Given the description of an element on the screen output the (x, y) to click on. 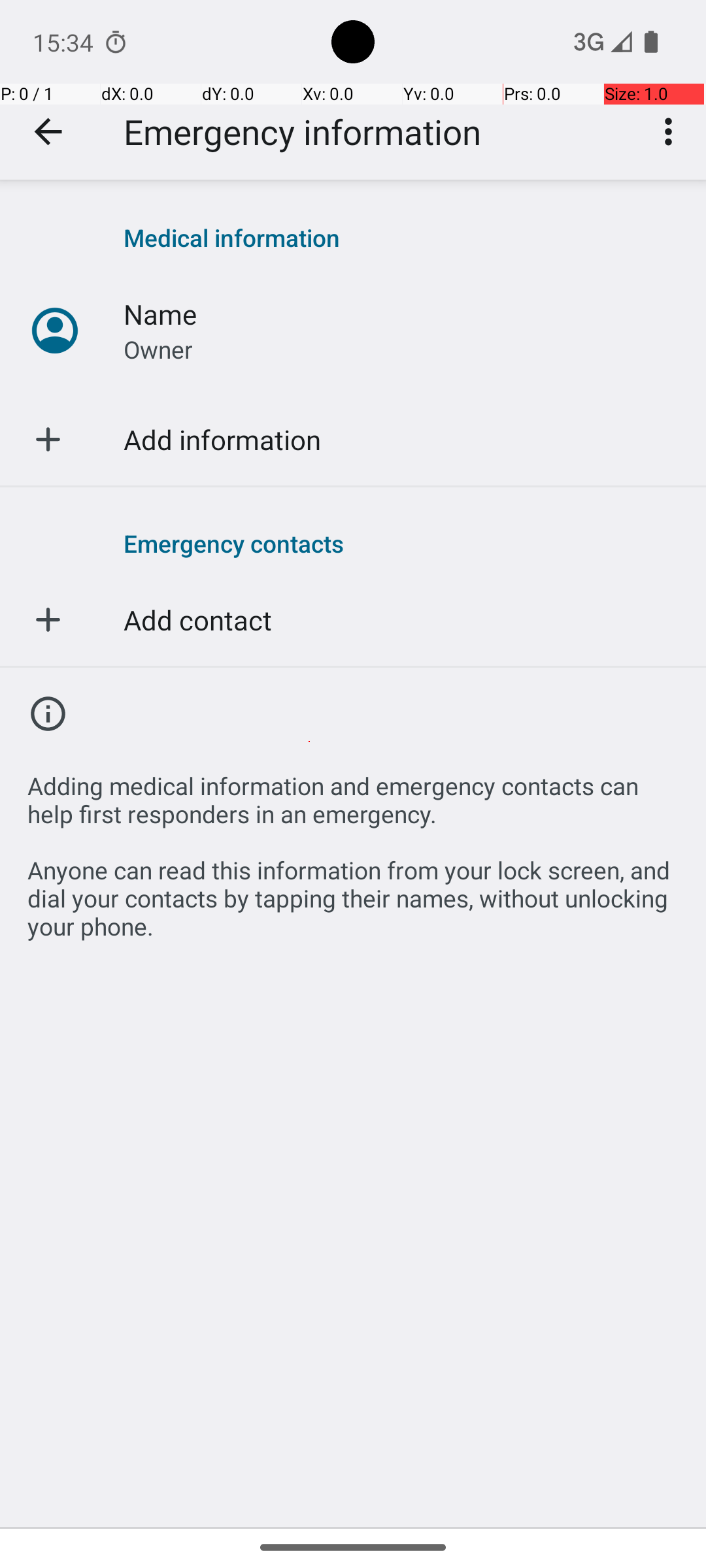
Emergency information Element type: android.widget.TextView (302, 131)
Medical information Element type: android.widget.TextView (400, 237)
Owner Element type: android.widget.TextView (157, 348)
Add information Element type: android.widget.TextView (221, 438)
Emergency contacts Element type: android.widget.TextView (400, 542)
Add contact Element type: android.widget.TextView (197, 619)
Adding medical information and emergency contacts can help first responders in an emergency.

Anyone can read this information from your lock screen, and dial your contacts by tapping their names, without unlocking your phone. Element type: android.widget.TextView (352, 848)
